Given the description of an element on the screen output the (x, y) to click on. 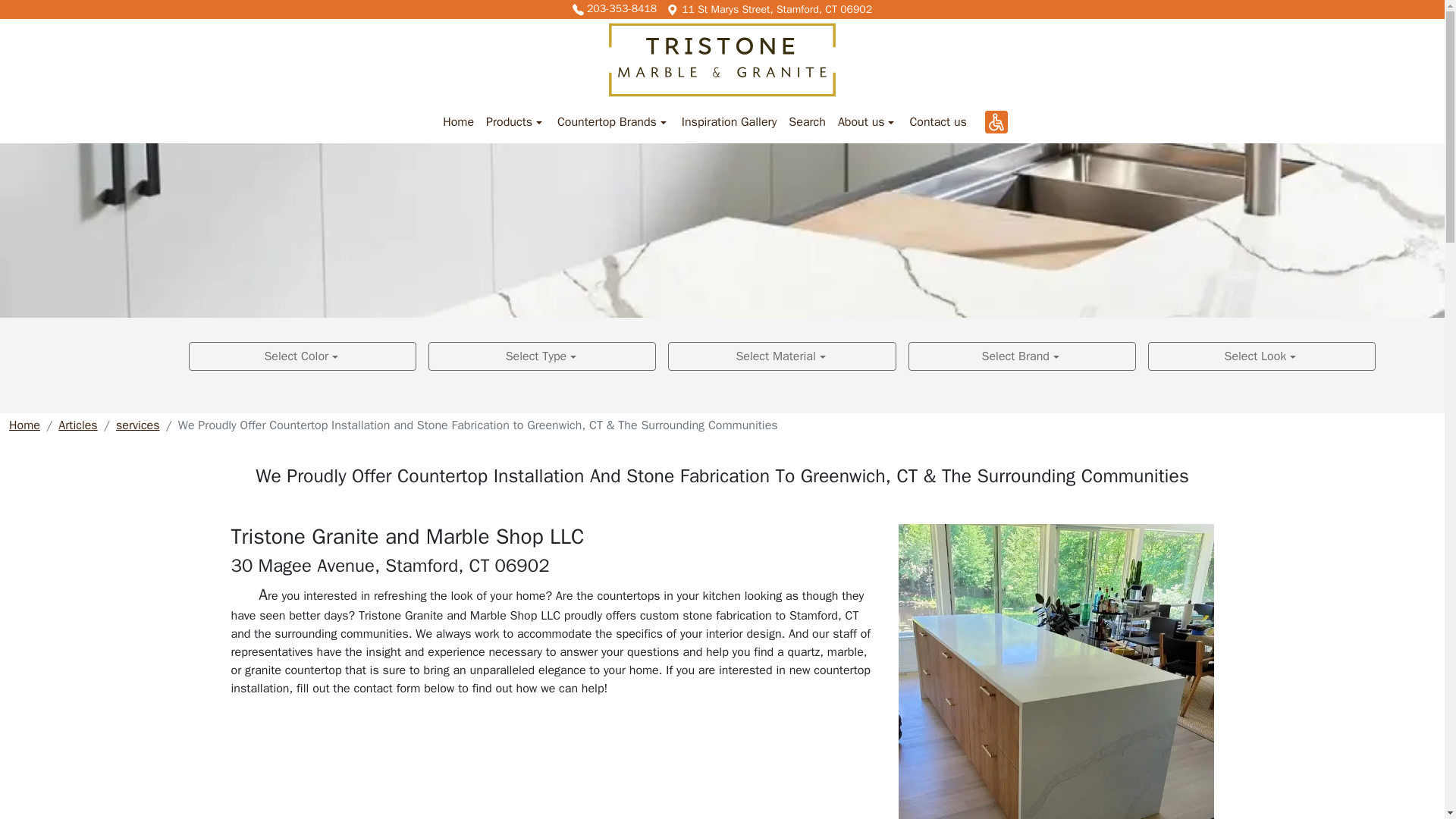
Home (458, 122)
About us (867, 122)
Products (515, 122)
Search (807, 122)
203-353-8418 (614, 8)
Inspiration Gallery (729, 122)
Countertop Brands (613, 122)
